Given the description of an element on the screen output the (x, y) to click on. 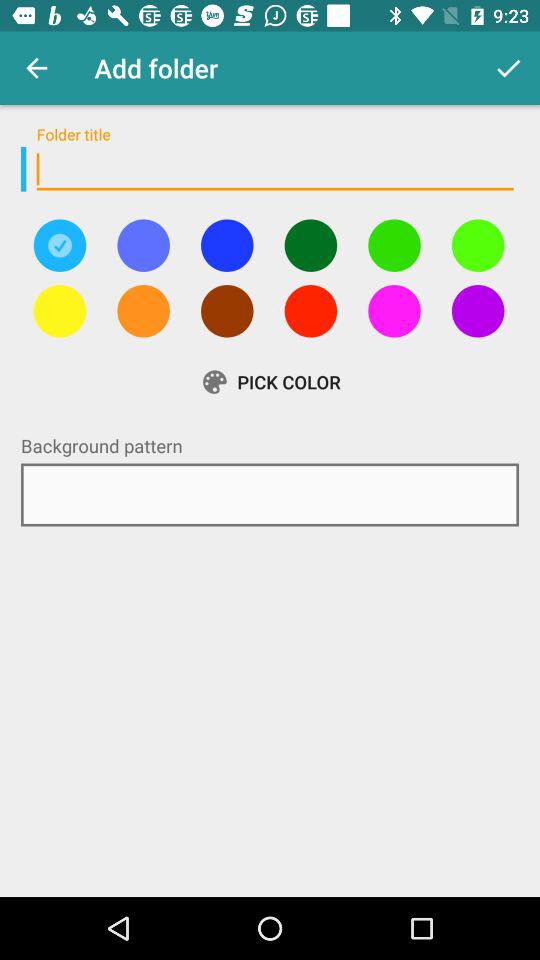
select the blue colour (227, 245)
